Given the description of an element on the screen output the (x, y) to click on. 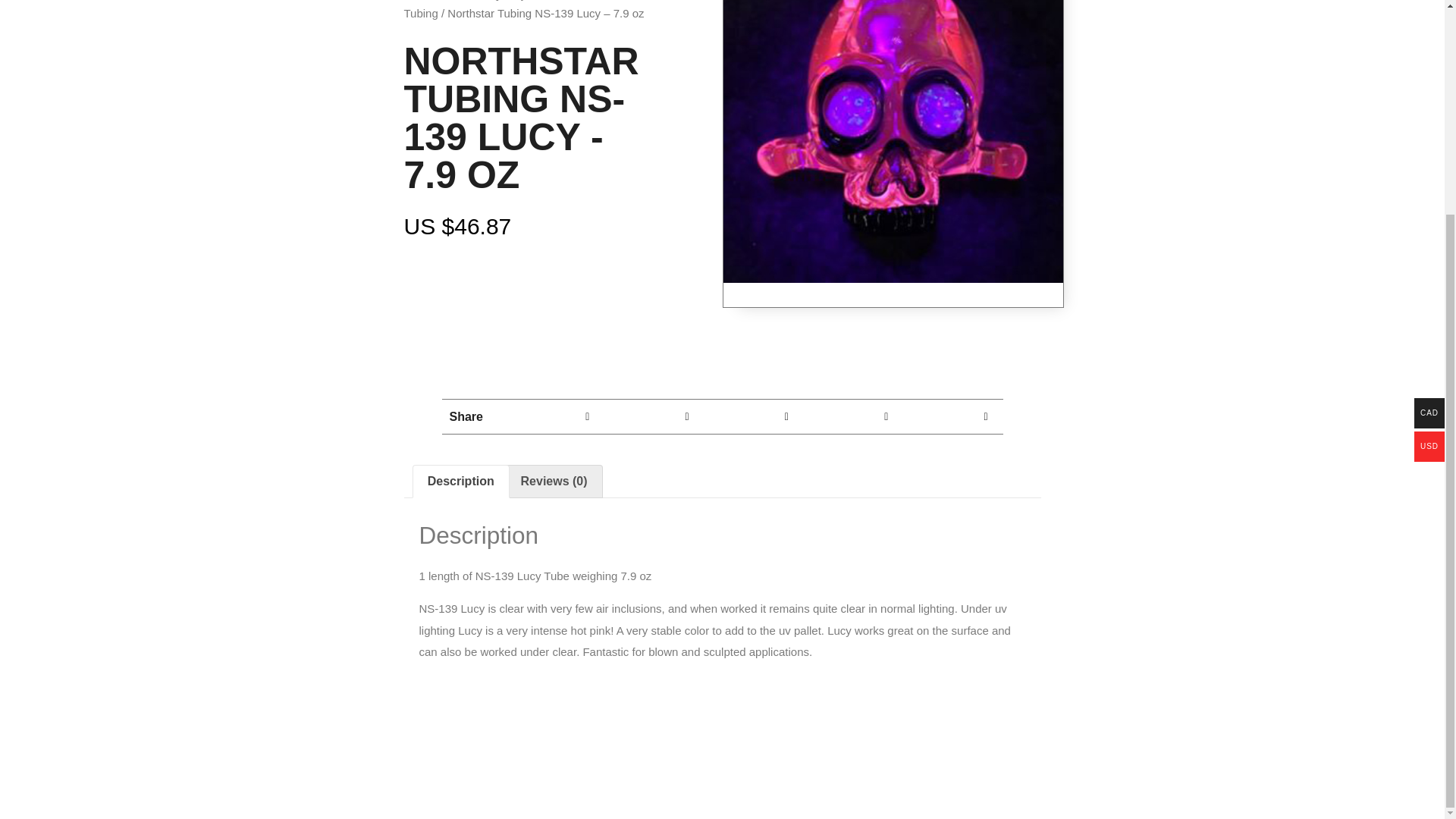
Lucy-NS-139-600x600 (892, 141)
Northstar Glassworks Tubing (524, 10)
Description (460, 481)
